Given the description of an element on the screen output the (x, y) to click on. 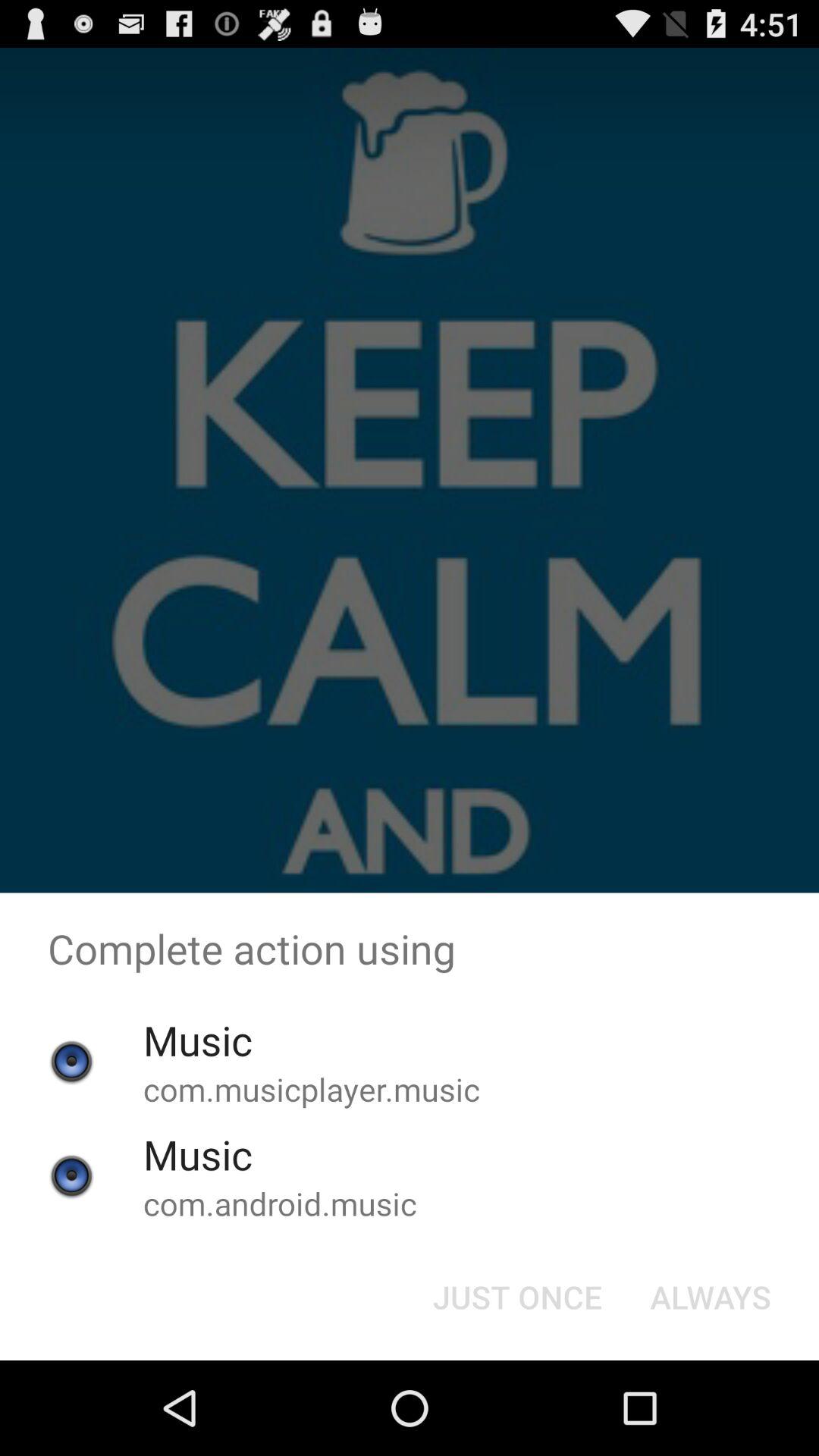
select the button next to the always button (517, 1296)
